Given the description of an element on the screen output the (x, y) to click on. 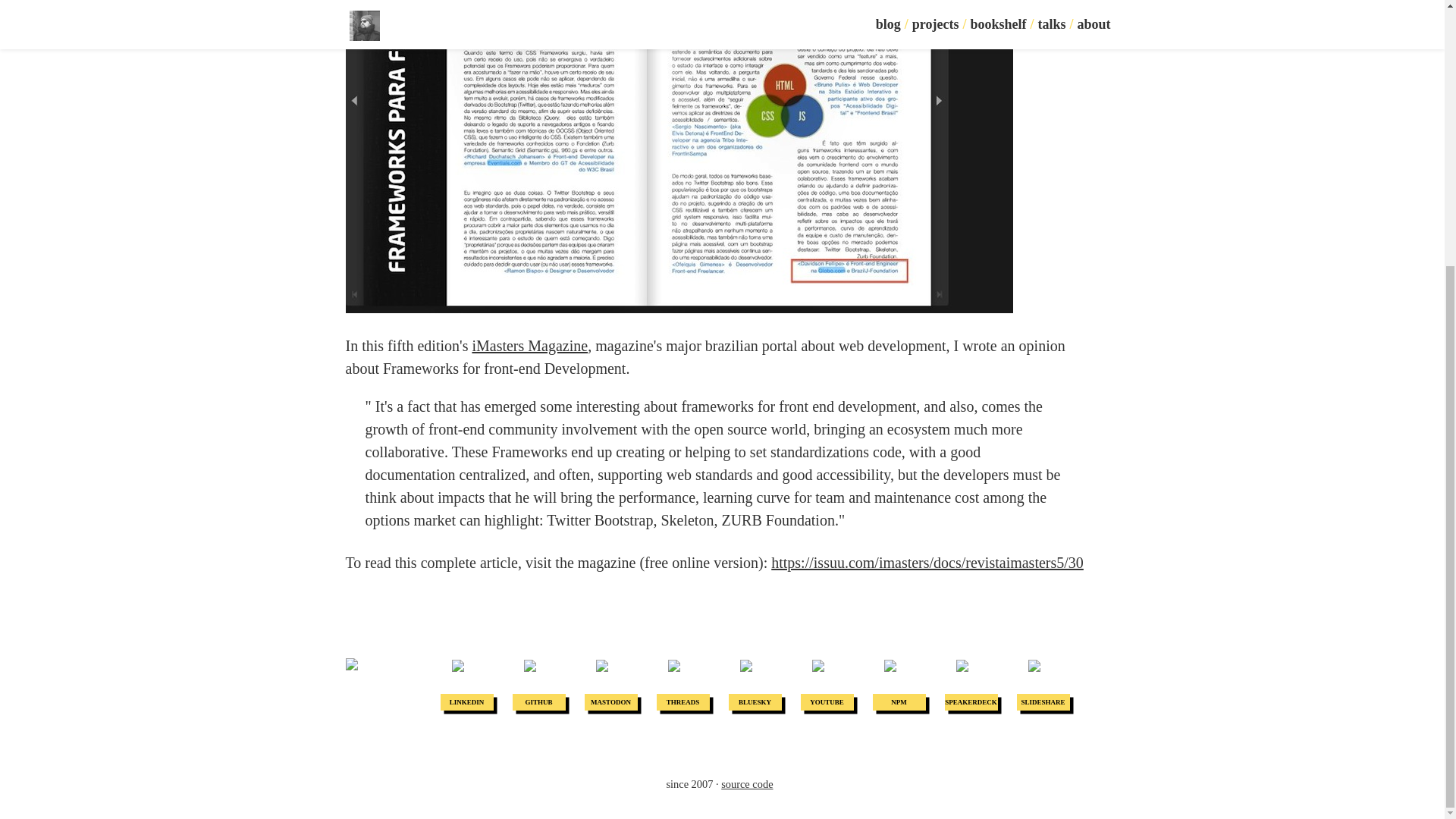
source code (746, 784)
iMasters Magazine (529, 345)
